Given the description of an element on the screen output the (x, y) to click on. 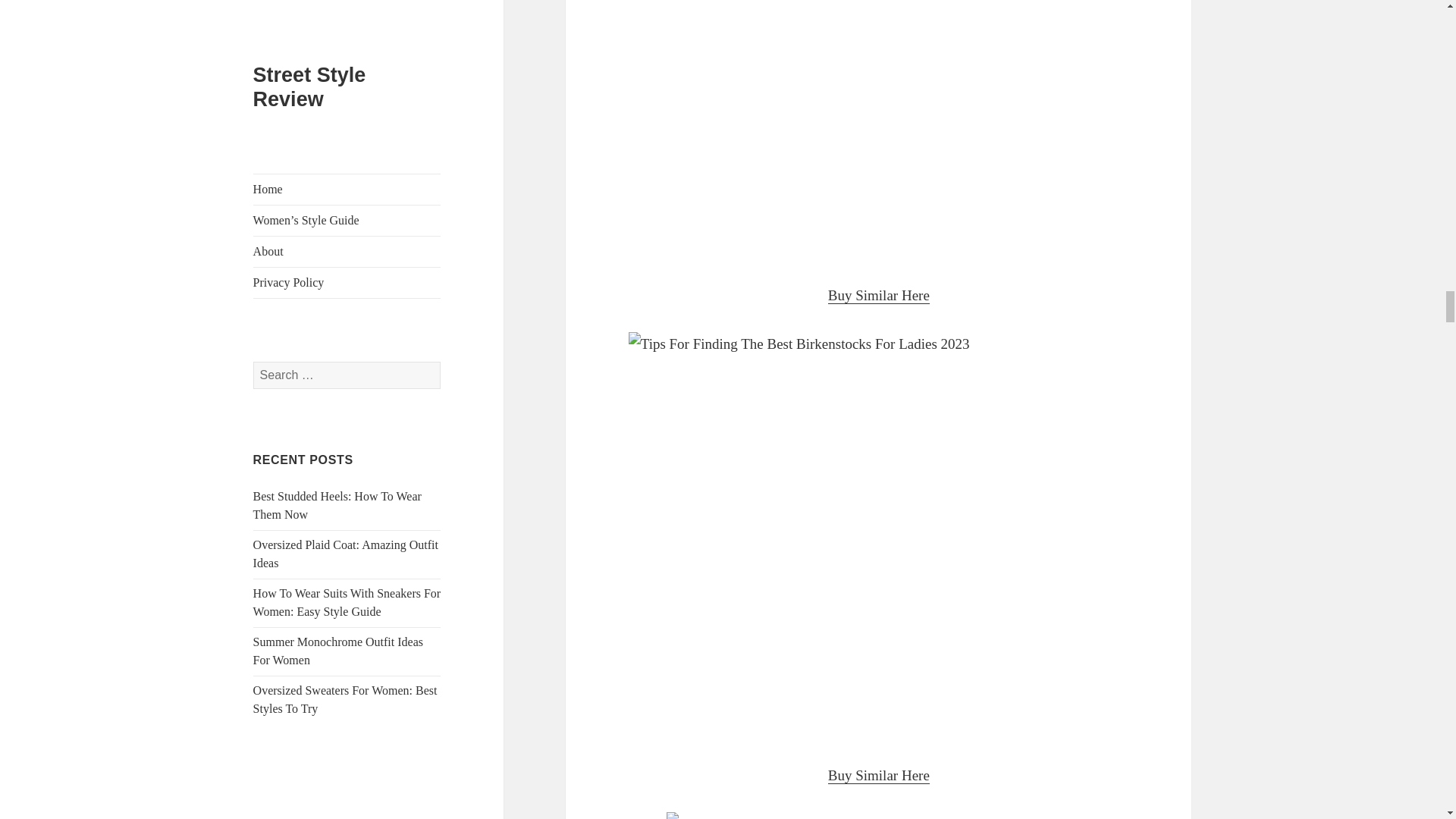
Buy Similar Here (879, 775)
Tips For Finding The Best Birkenstocks For Ladies 2023 (878, 129)
Tips For Finding The Best Birkenstocks For Ladies 2023 (878, 815)
Buy Similar Here (879, 295)
